Given the description of an element on the screen output the (x, y) to click on. 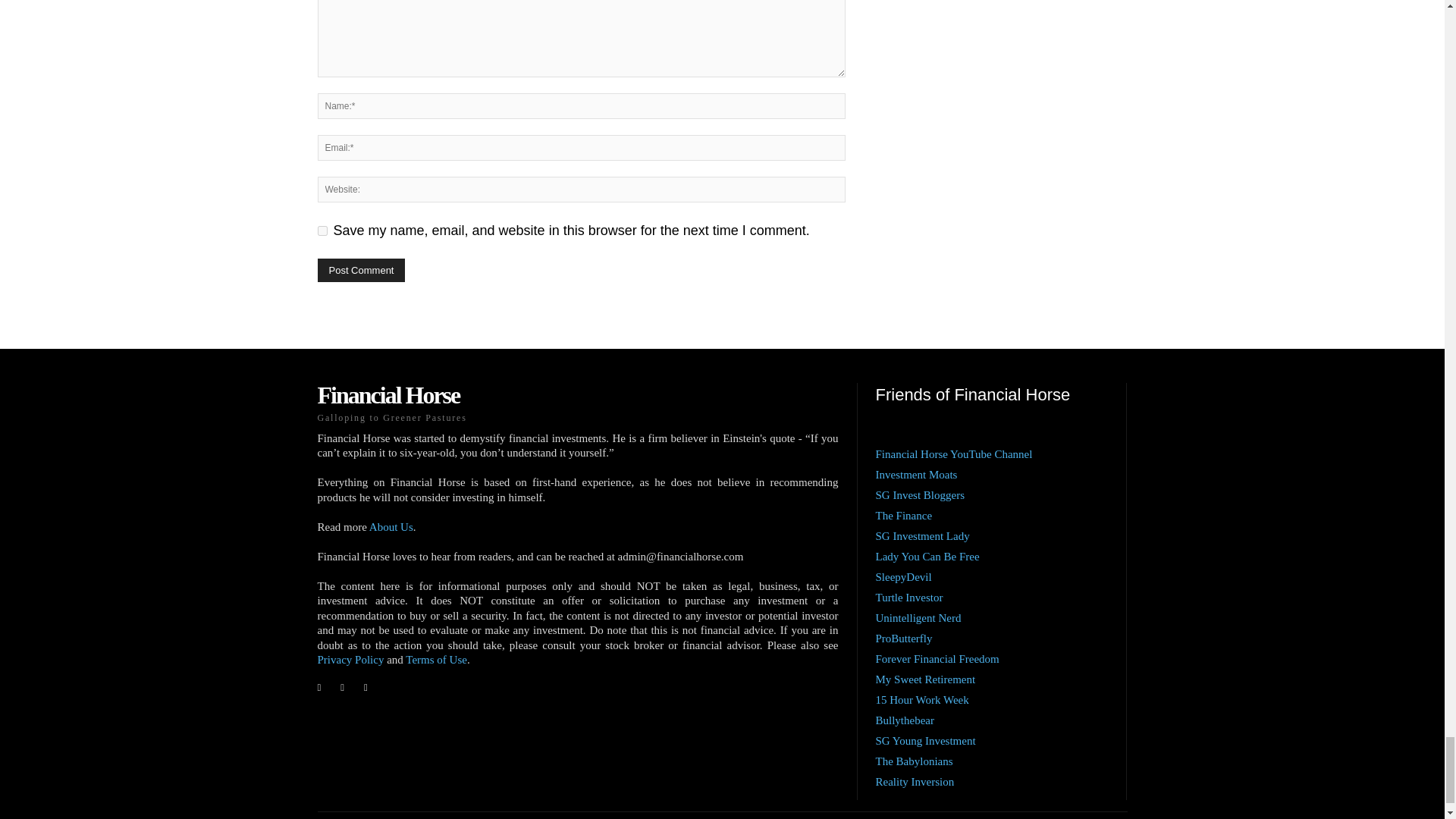
Facebook (318, 687)
Instagram (342, 687)
Twitter (366, 687)
yes (321, 230)
Post Comment (360, 269)
